Given the description of an element on the screen output the (x, y) to click on. 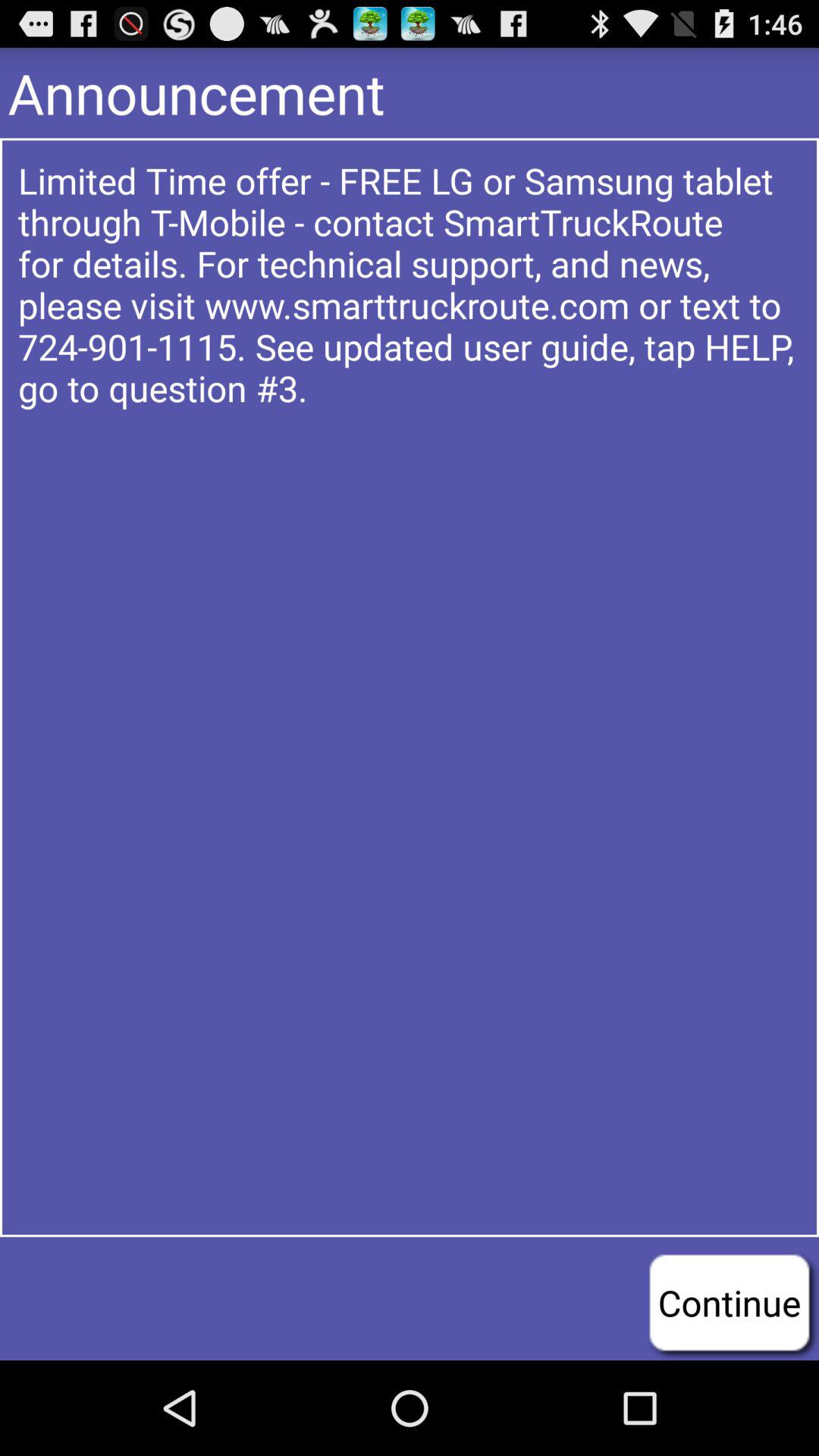
scroll to continue (729, 1302)
